Given the description of an element on the screen output the (x, y) to click on. 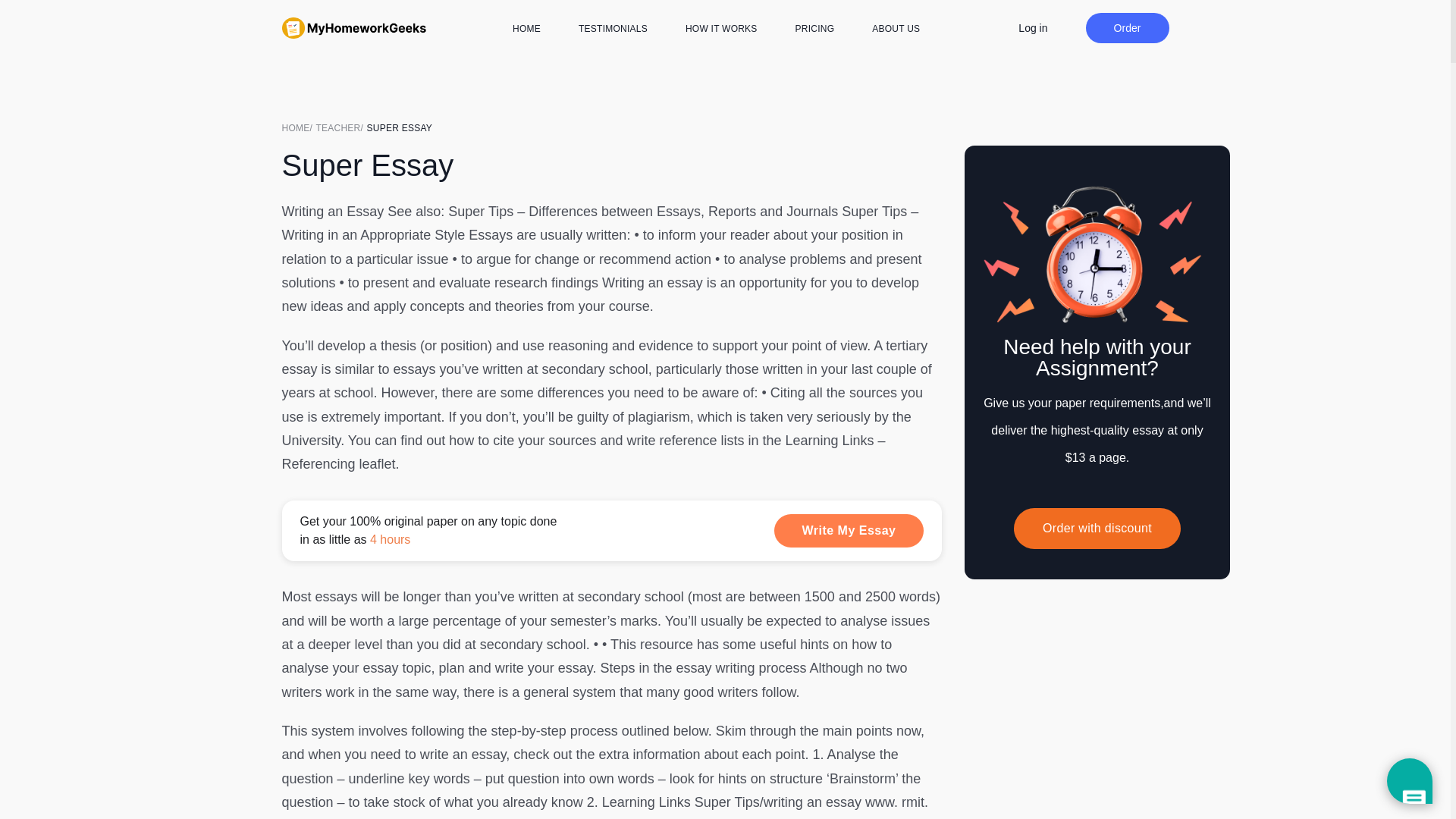
HOW IT WORKS (721, 28)
Order with discount (1096, 527)
PRICING (814, 28)
ABOUT US (896, 28)
Go to MyhomeworkGeeks (298, 126)
Order (1127, 28)
TESTIMONIALS (612, 28)
Write My Essay (848, 530)
Learn More (612, 530)
HOME (298, 126)
HOME (526, 28)
Log in (1031, 27)
